Given the description of an element on the screen output the (x, y) to click on. 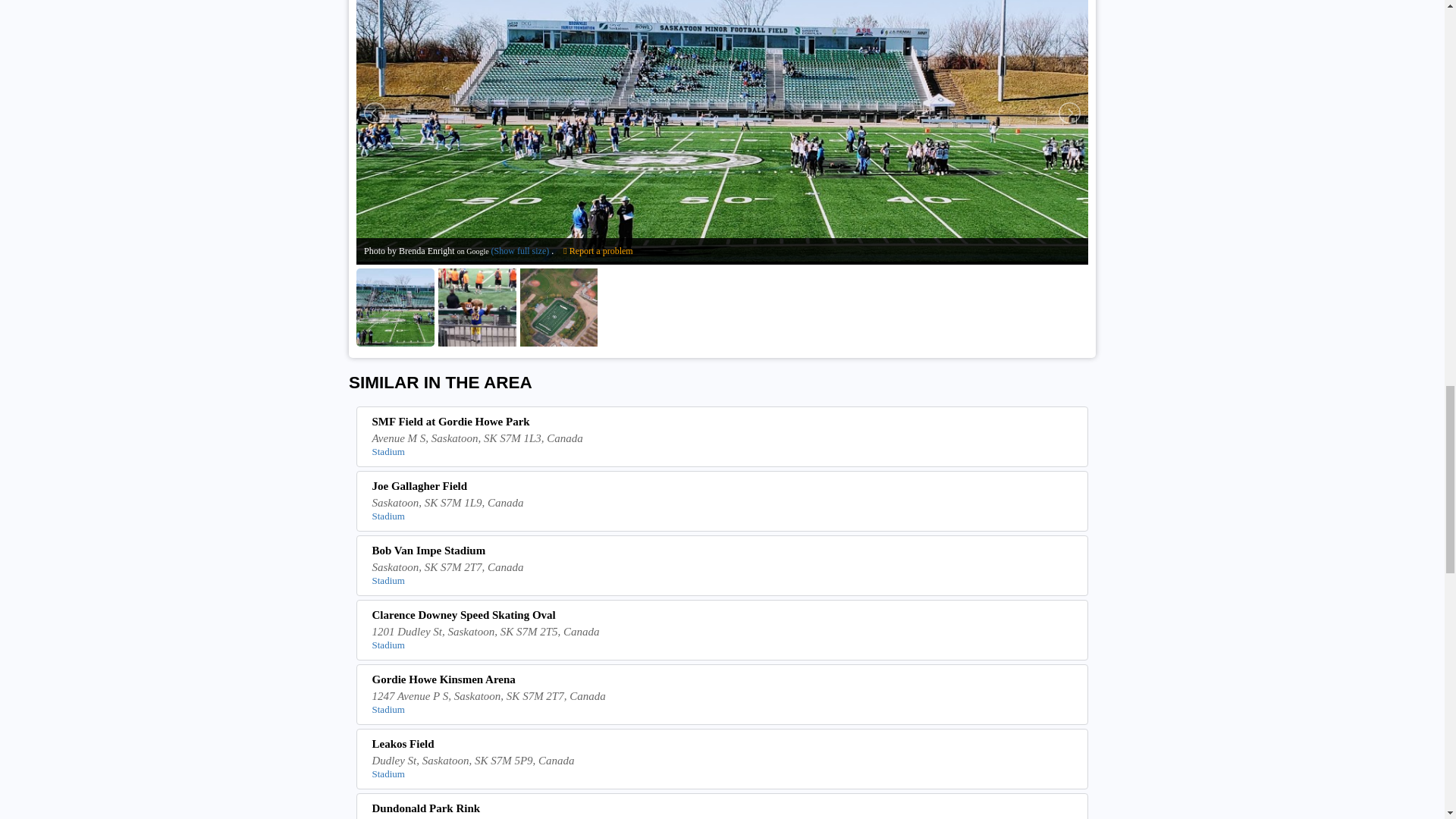
Dundonald Park Rink (722, 810)
Bob Van Impe Stadium (722, 552)
Joe Gallagher Field (722, 487)
Gordie Howe Kinsmen Arena (722, 681)
Clarence Downey Speed Skating Oval (722, 617)
Leakos Field (722, 745)
SMF Field at Gordie Howe Park (722, 423)
